Given the description of an element on the screen output the (x, y) to click on. 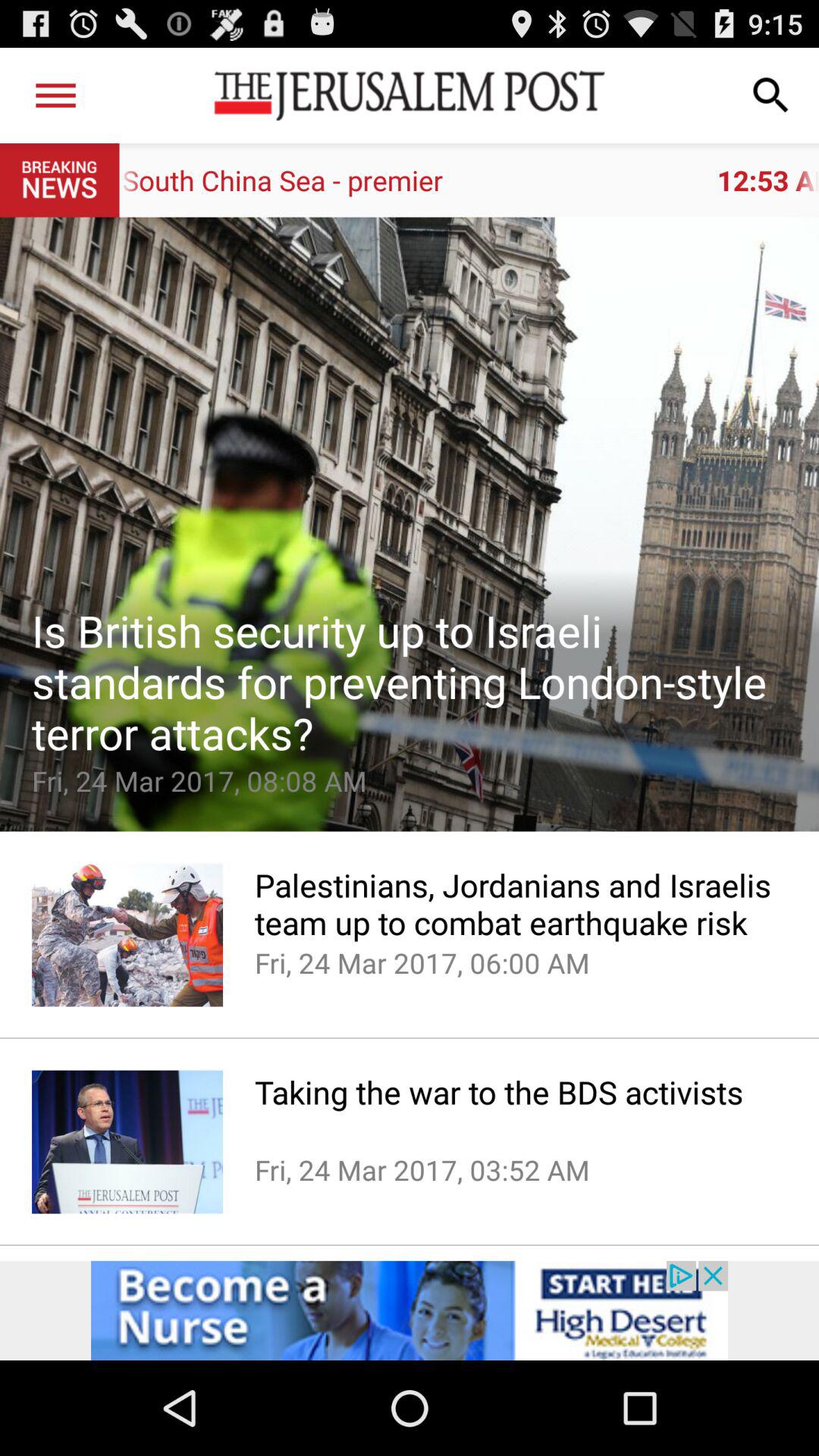
advertisement (409, 1310)
